Given the description of an element on the screen output the (x, y) to click on. 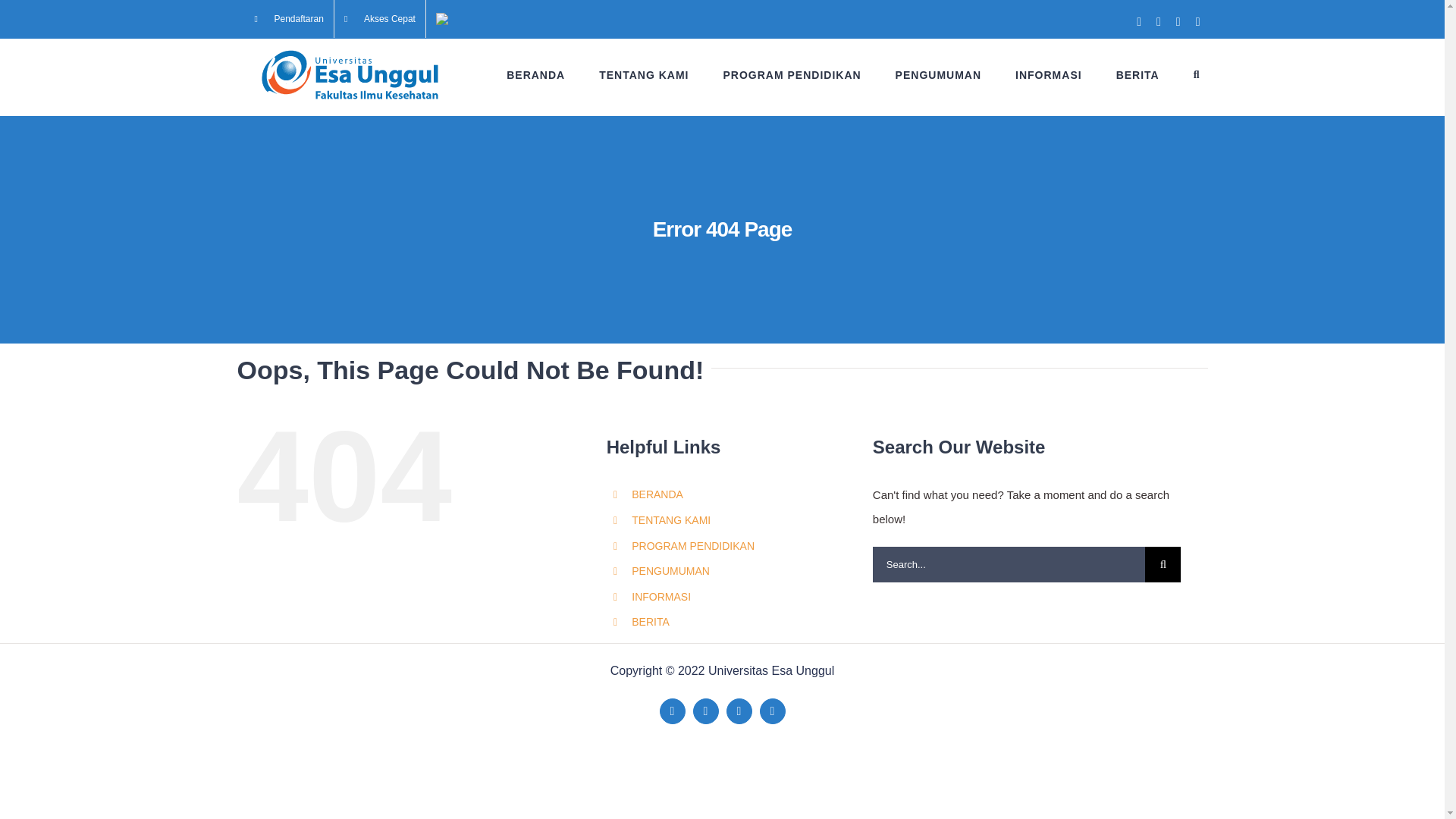
PROGRAM PENDIDIKAN (791, 74)
Pendaftaran (288, 18)
Akses Cepat (379, 18)
TENTANG KAMI (643, 74)
Facebook (672, 710)
Instagram (773, 710)
Twitter (706, 710)
PENGUMUMAN (938, 74)
YouTube (739, 710)
